Given the description of an element on the screen output the (x, y) to click on. 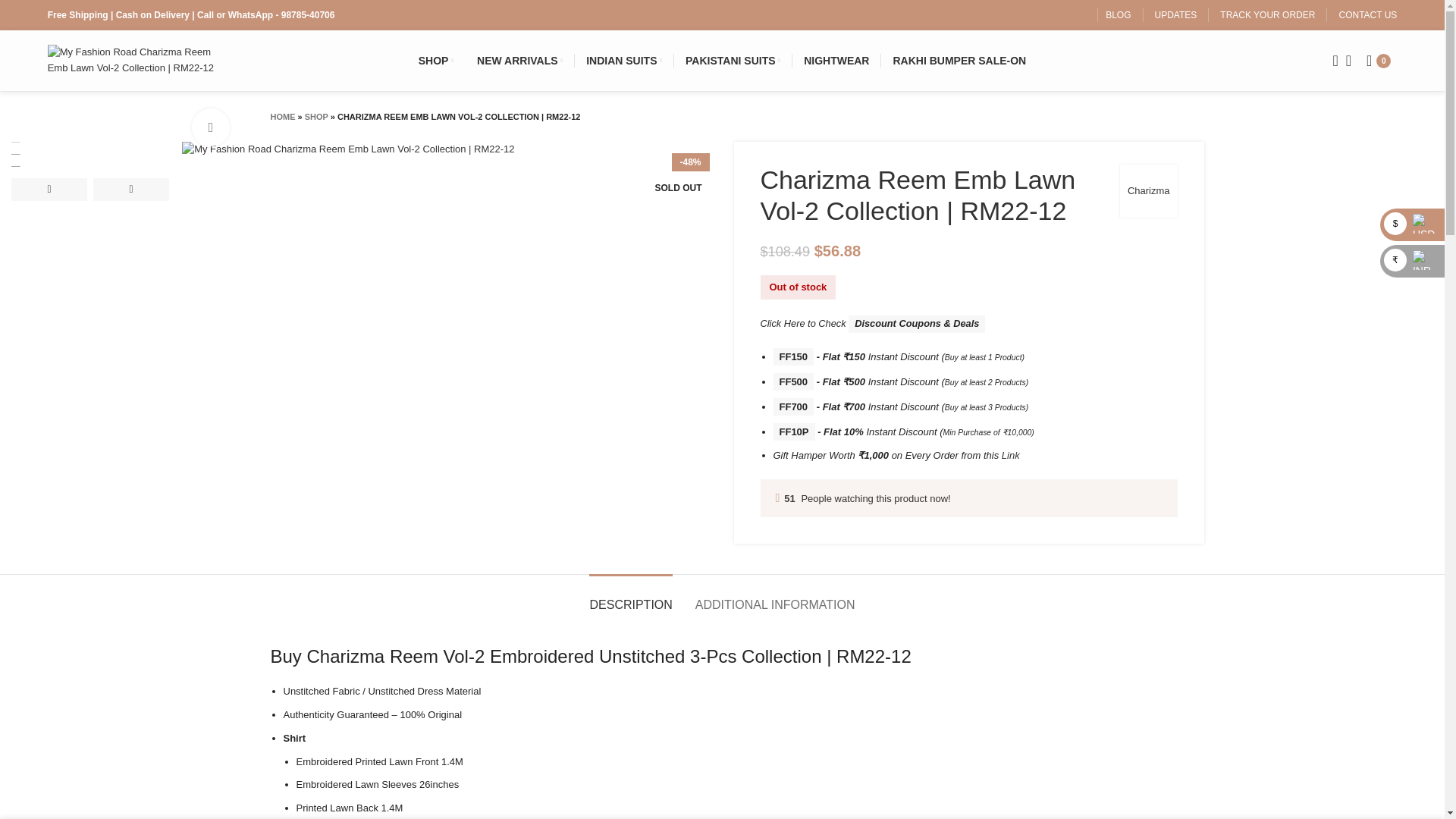
BLOG (1118, 15)
SHOP (435, 60)
Shopping cart (1381, 60)
CONTACT US (1367, 15)
My account (1348, 60)
TRACK YOUR ORDER (1267, 15)
UPDATES (1175, 15)
INDIAN SUITS (624, 60)
PAKISTANI SUITS (732, 60)
Search (1330, 60)
NEW ARRIVALS (519, 60)
